Given the description of an element on the screen output the (x, y) to click on. 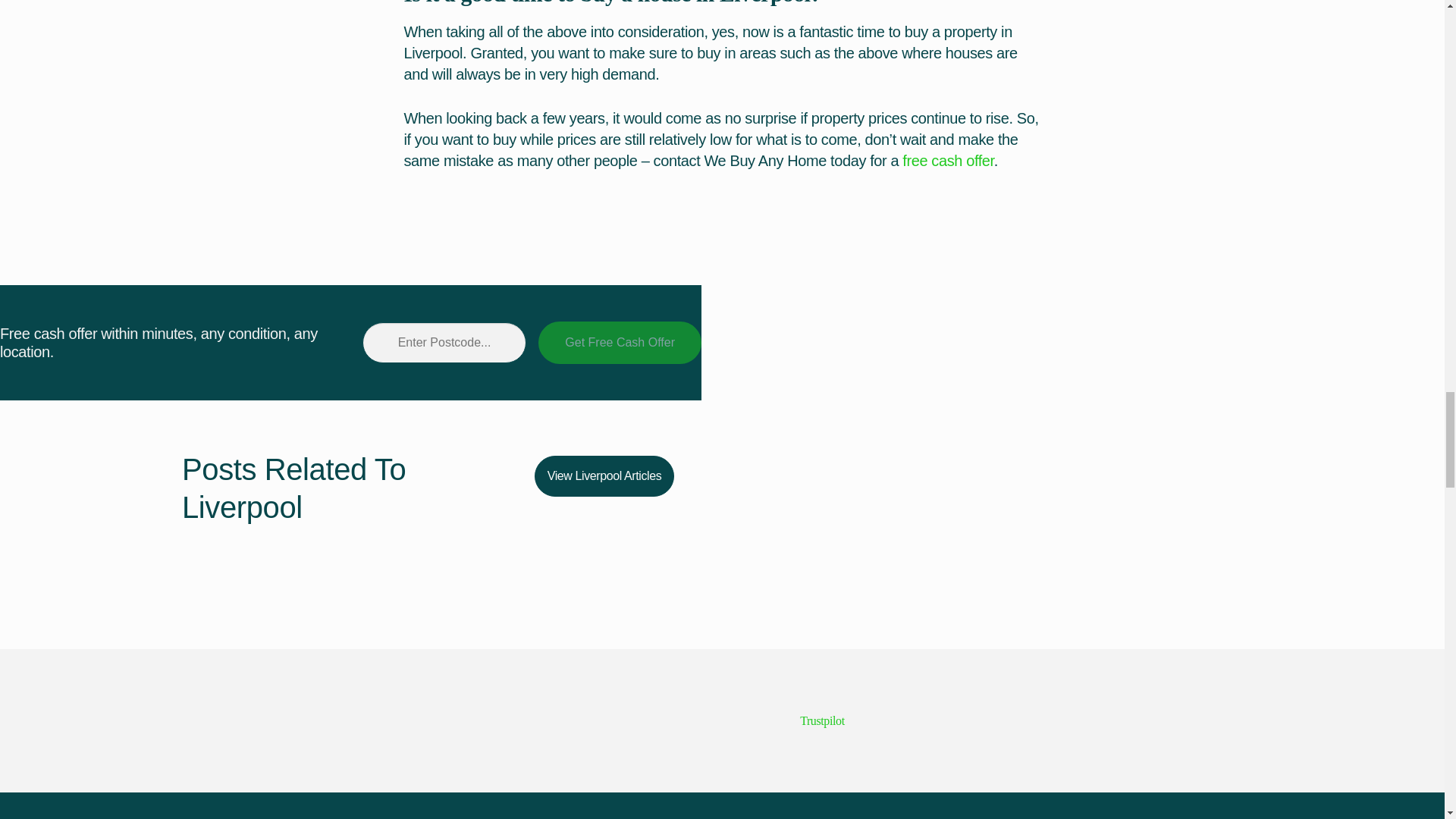
Get Free Cash Offer (619, 342)
free cash offer (947, 160)
Trustpilot (821, 720)
View Liverpool Articles (604, 475)
